Given the description of an element on the screen output the (x, y) to click on. 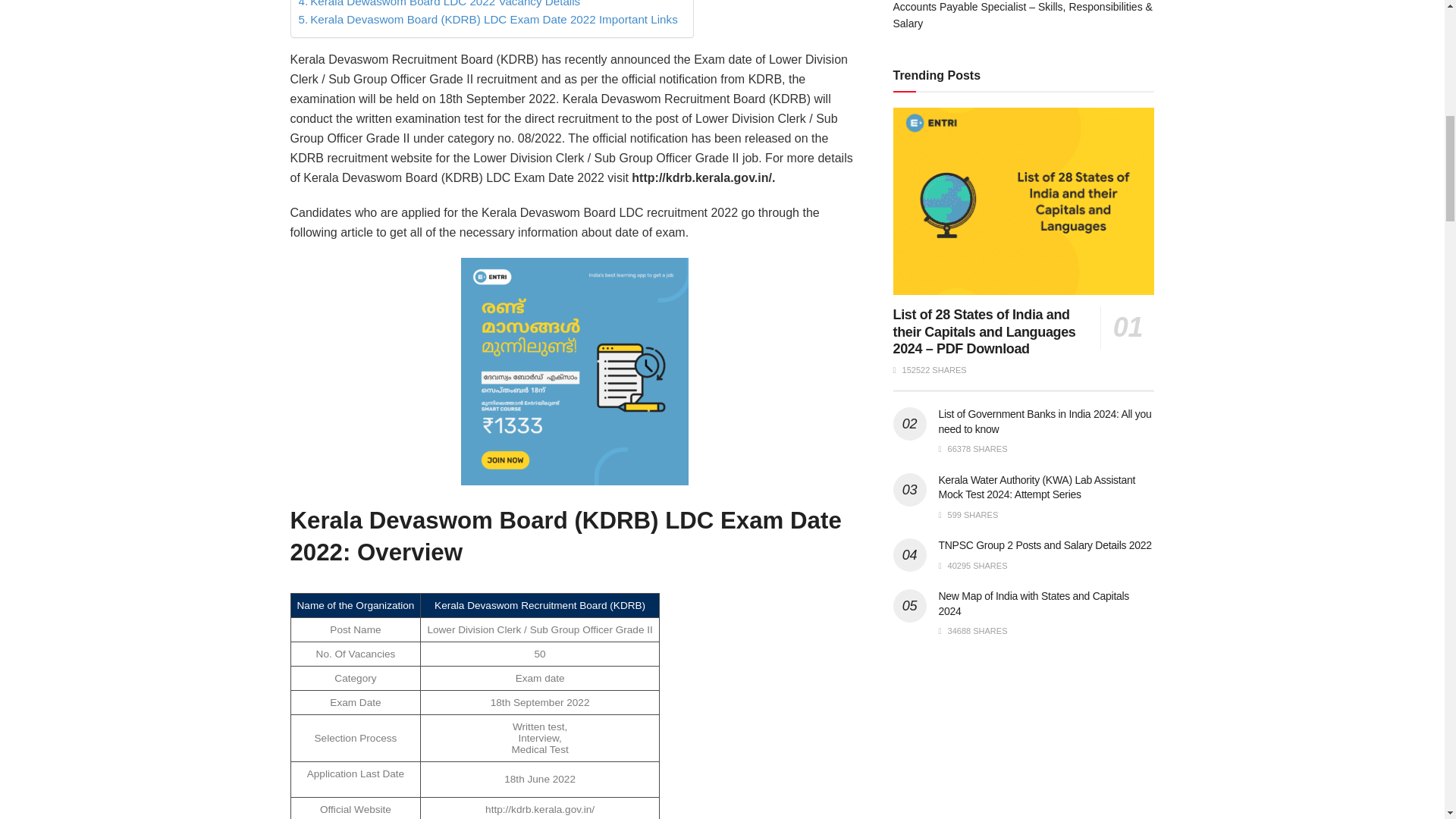
Kerala Dewaswom Board LDC 2022 Vacancy Details (439, 5)
